Given the description of an element on the screen output the (x, y) to click on. 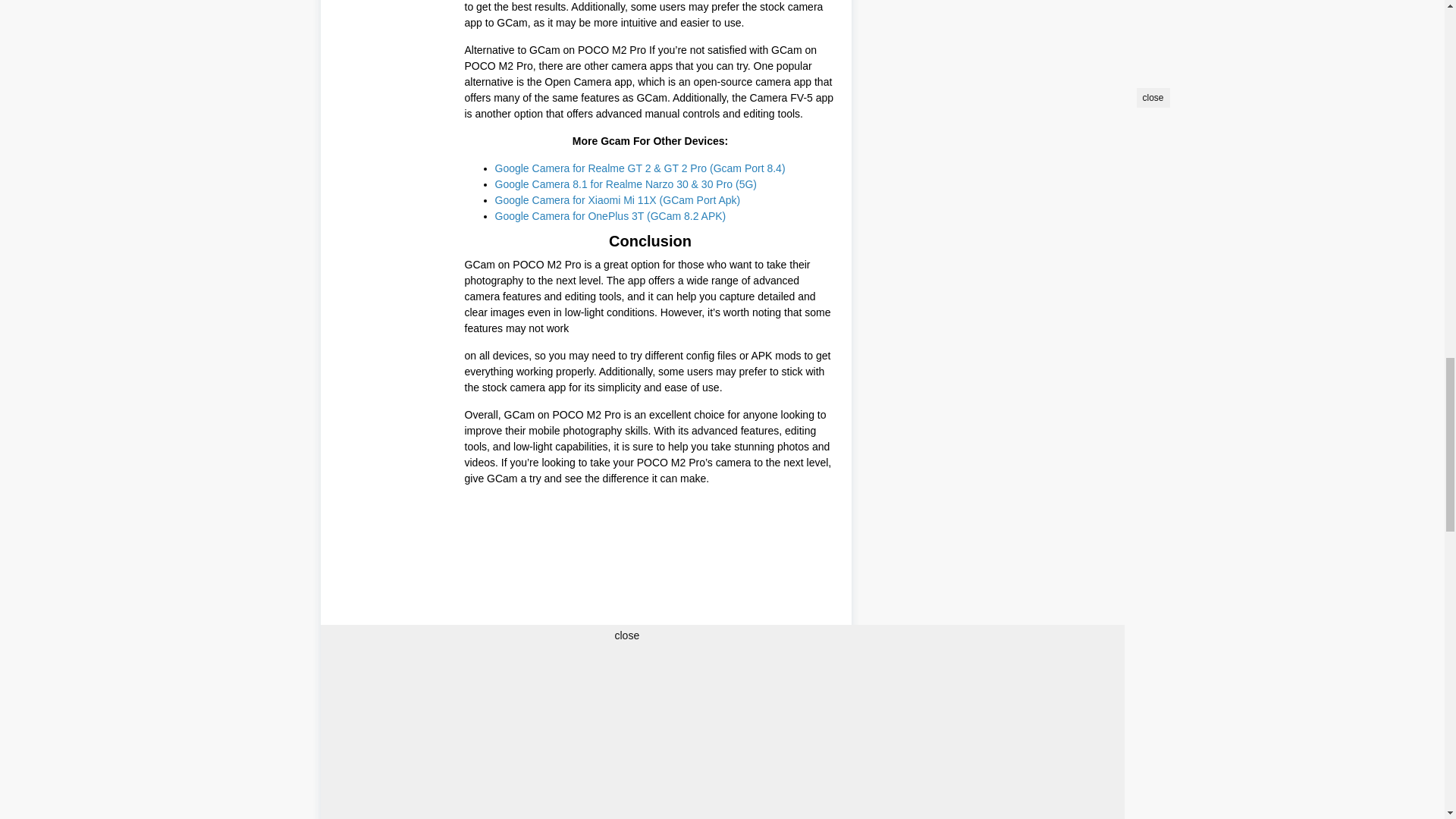
Google Camera (558, 761)
Google LLC (648, 761)
Final (483, 761)
